Given the description of an element on the screen output the (x, y) to click on. 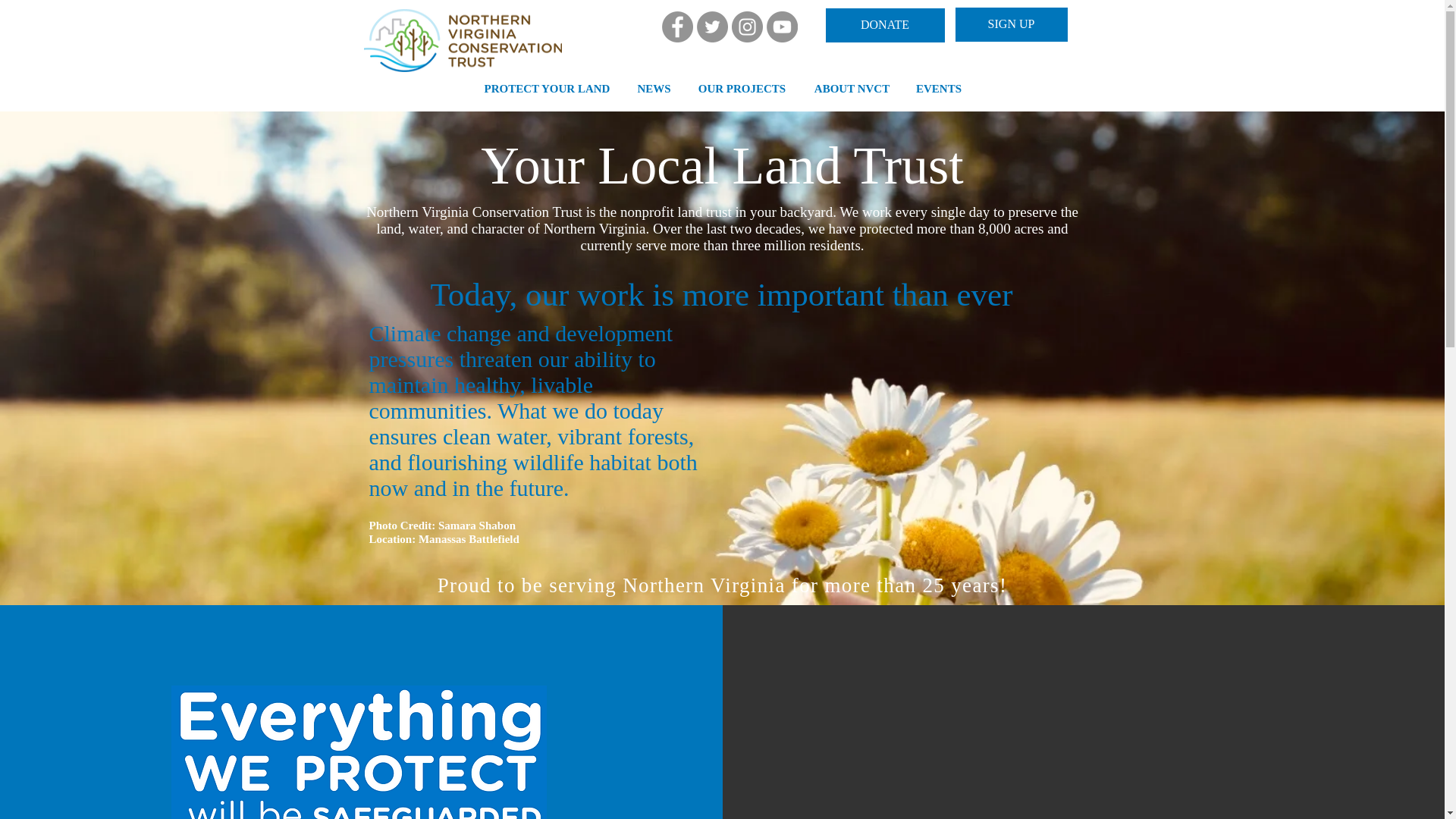
PROTECT YOUR LAND (547, 89)
OUR PROJECTS (742, 89)
DONATE (884, 25)
SIGN UP (1011, 24)
EVENTS (939, 89)
